Given the description of an element on the screen output the (x, y) to click on. 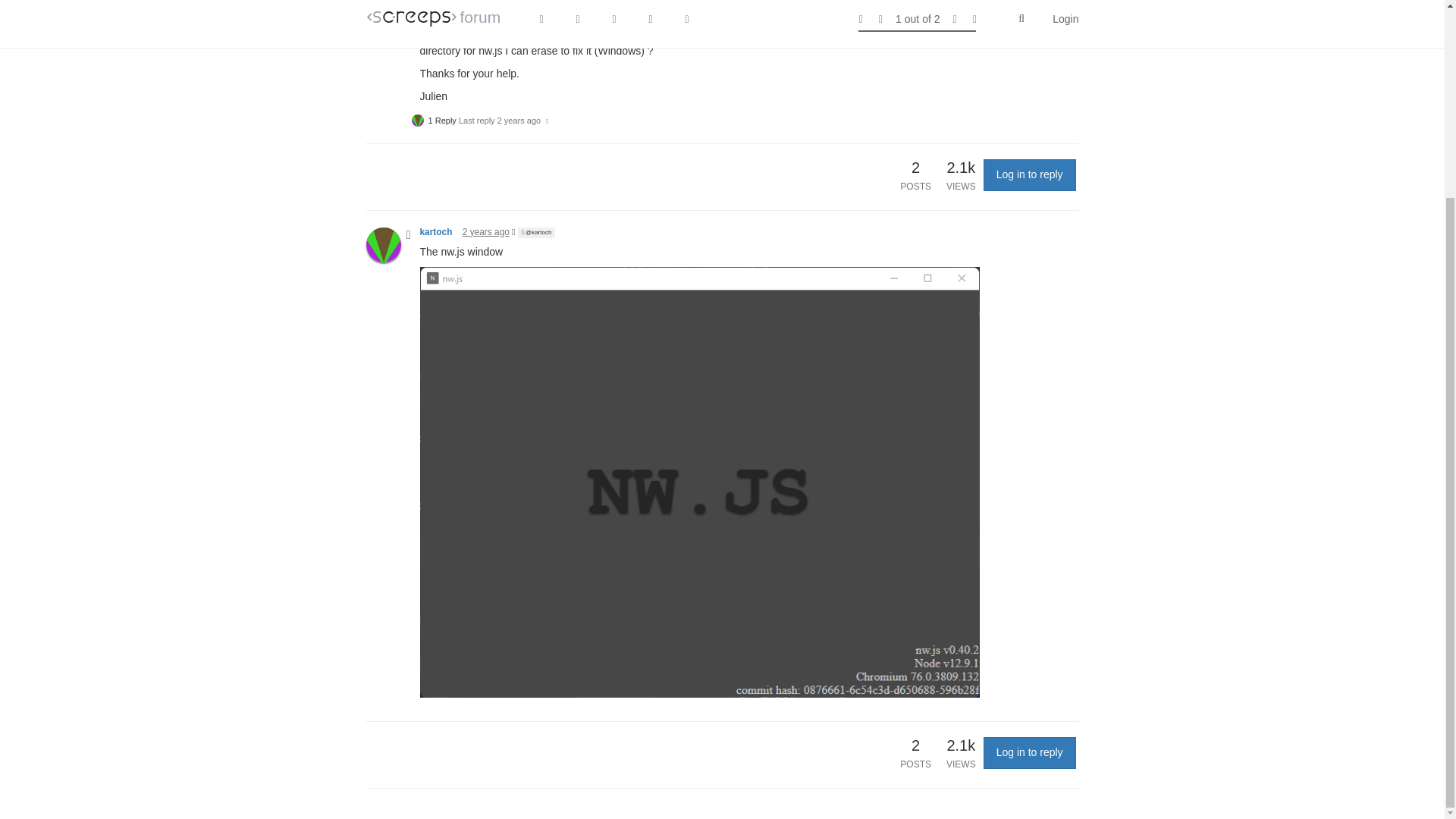
1 Reply Last reply 2 years ago (480, 120)
